Given the description of an element on the screen output the (x, y) to click on. 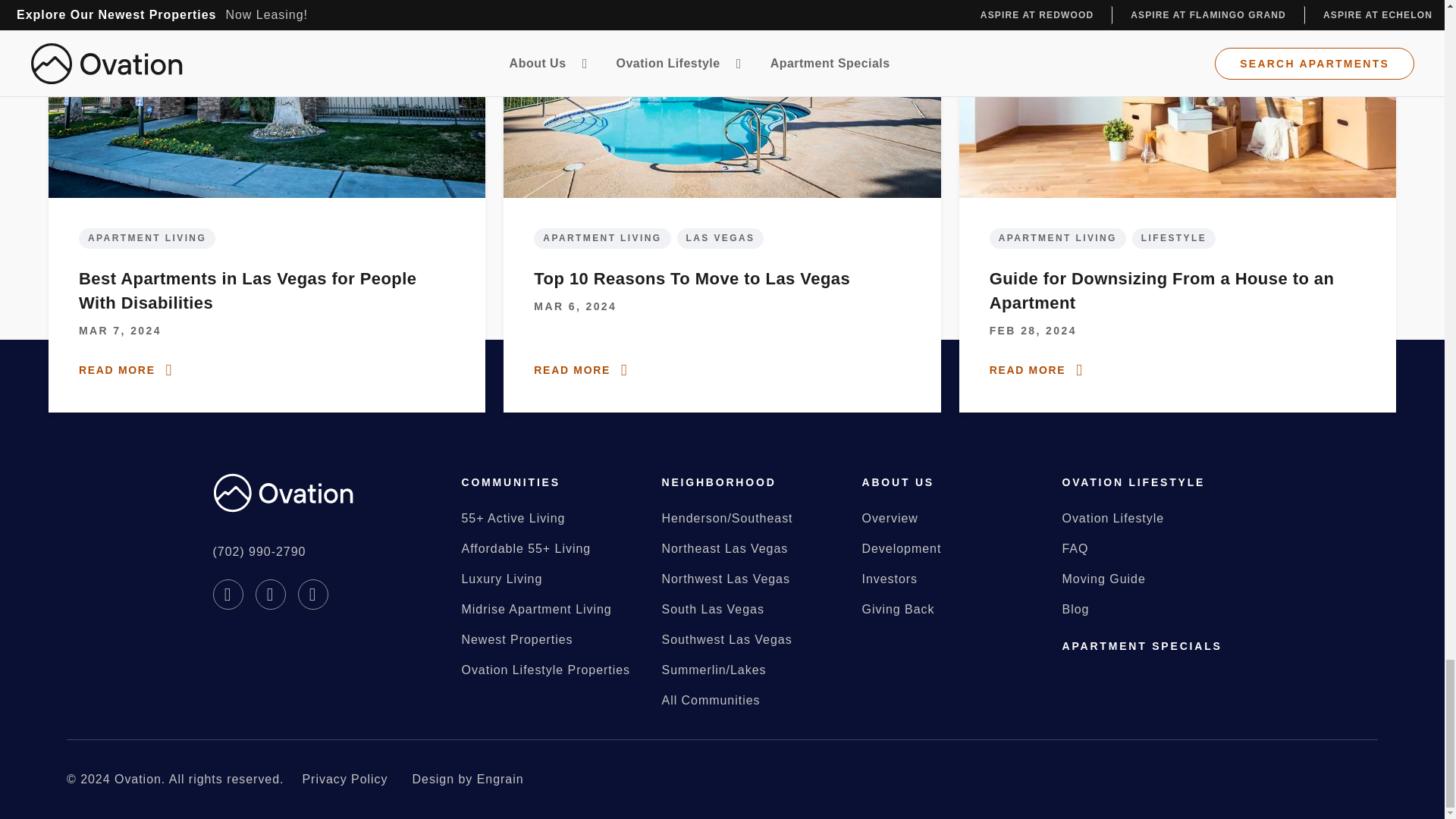
READ MORE (1038, 369)
Best Apartments in Las Vegas for People With Disabilities (266, 290)
Guide for Downsizing From a House to an Apartment (1177, 290)
Top 10 Reasons To Move to Las Vegas (692, 278)
READ MORE (582, 369)
READ MORE (127, 369)
